Given the description of an element on the screen output the (x, y) to click on. 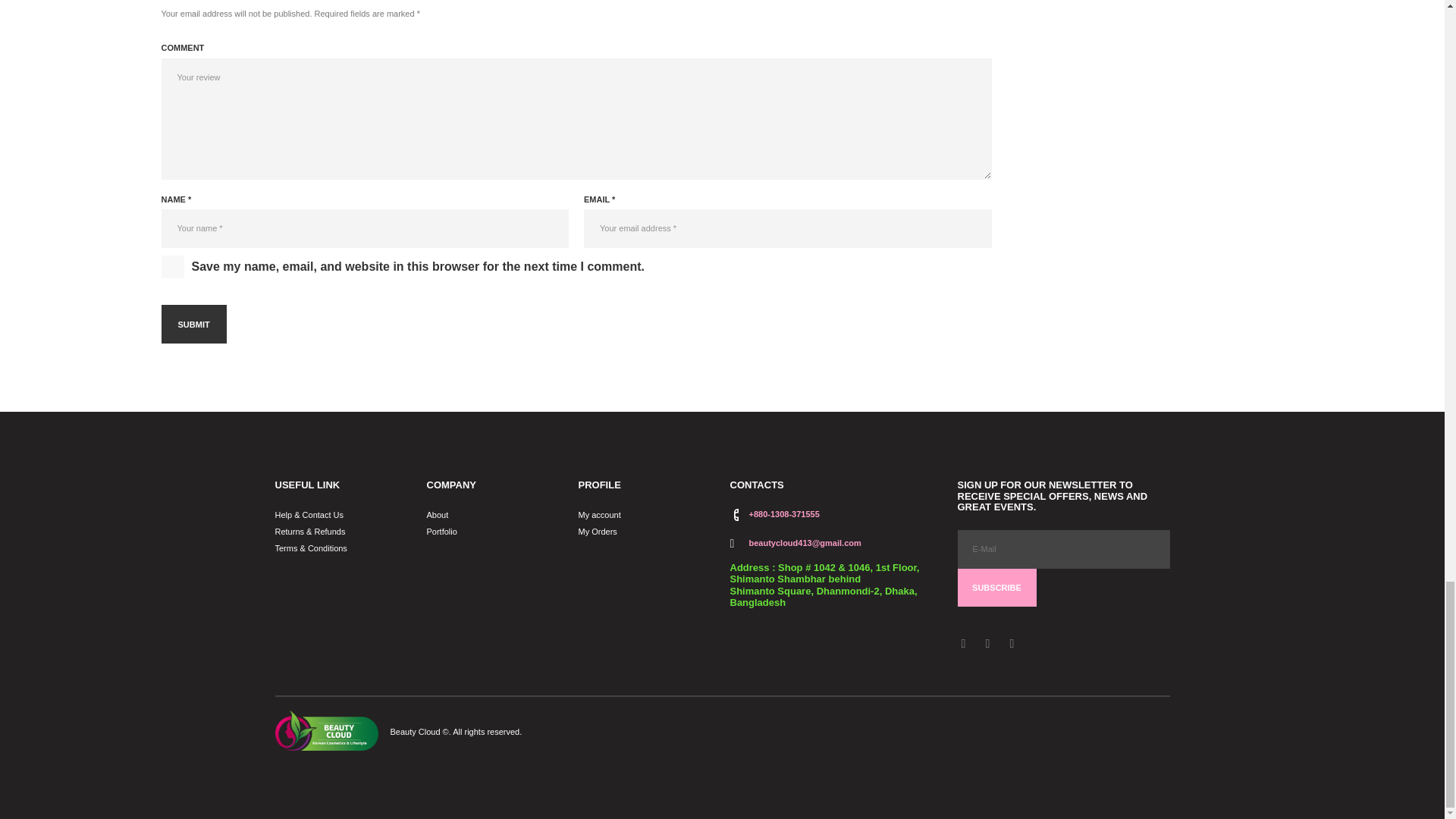
Submit (192, 323)
